Given the description of an element on the screen output the (x, y) to click on. 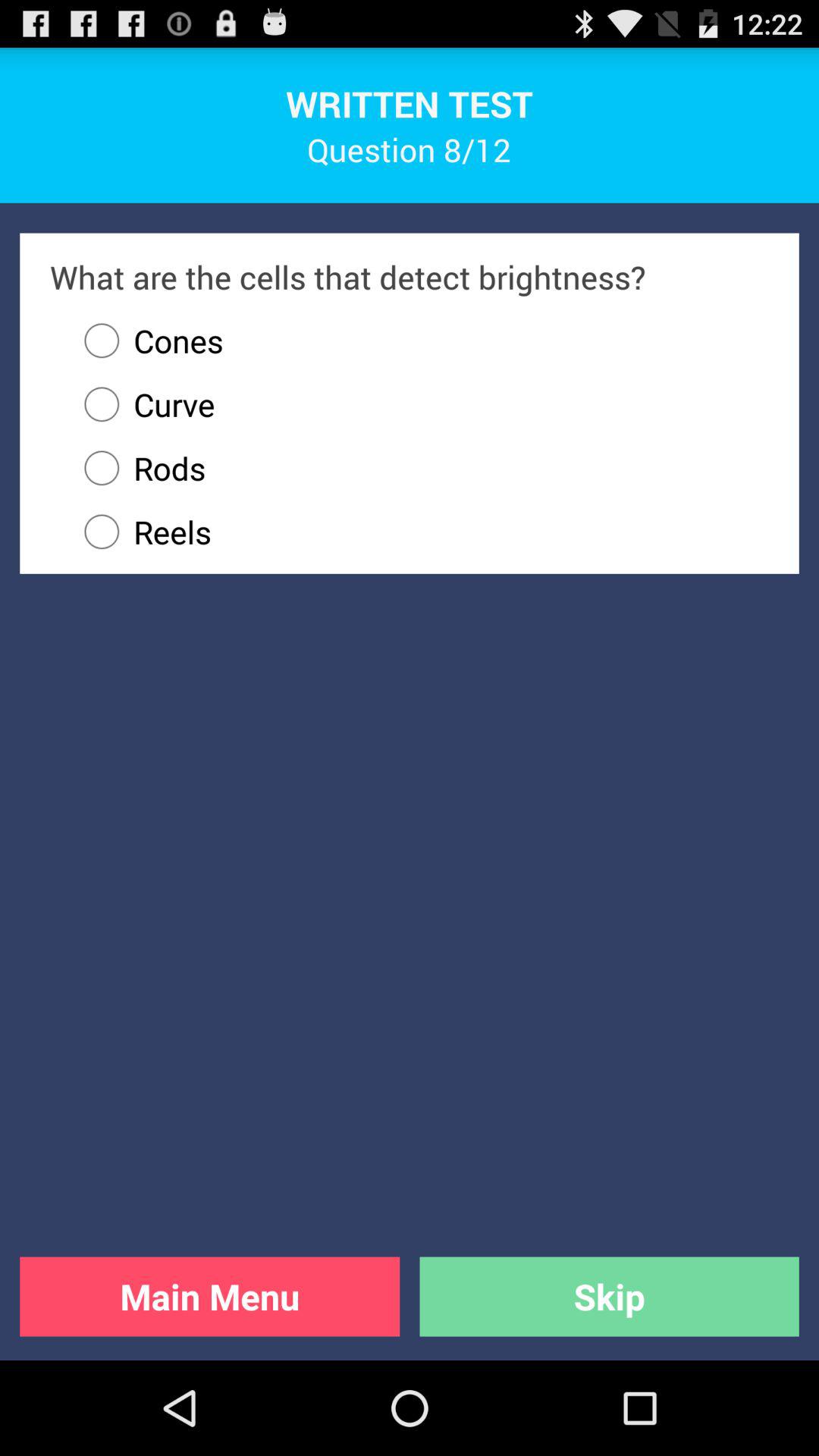
turn off the radio button below the curve (418, 467)
